Given the description of an element on the screen output the (x, y) to click on. 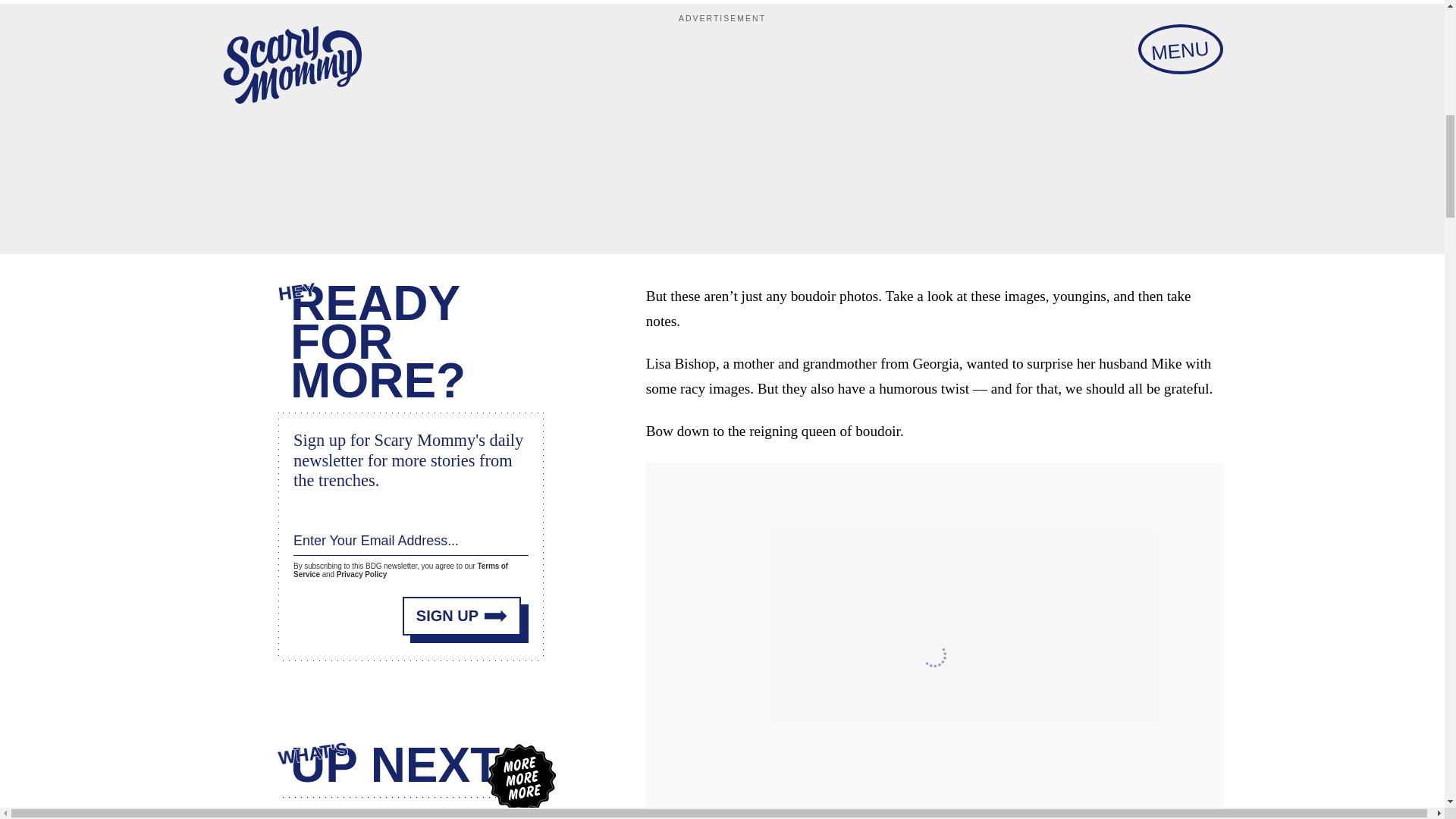
Privacy Policy (361, 574)
SIGN UP (462, 615)
Terms of Service (401, 569)
